Given the description of an element on the screen output the (x, y) to click on. 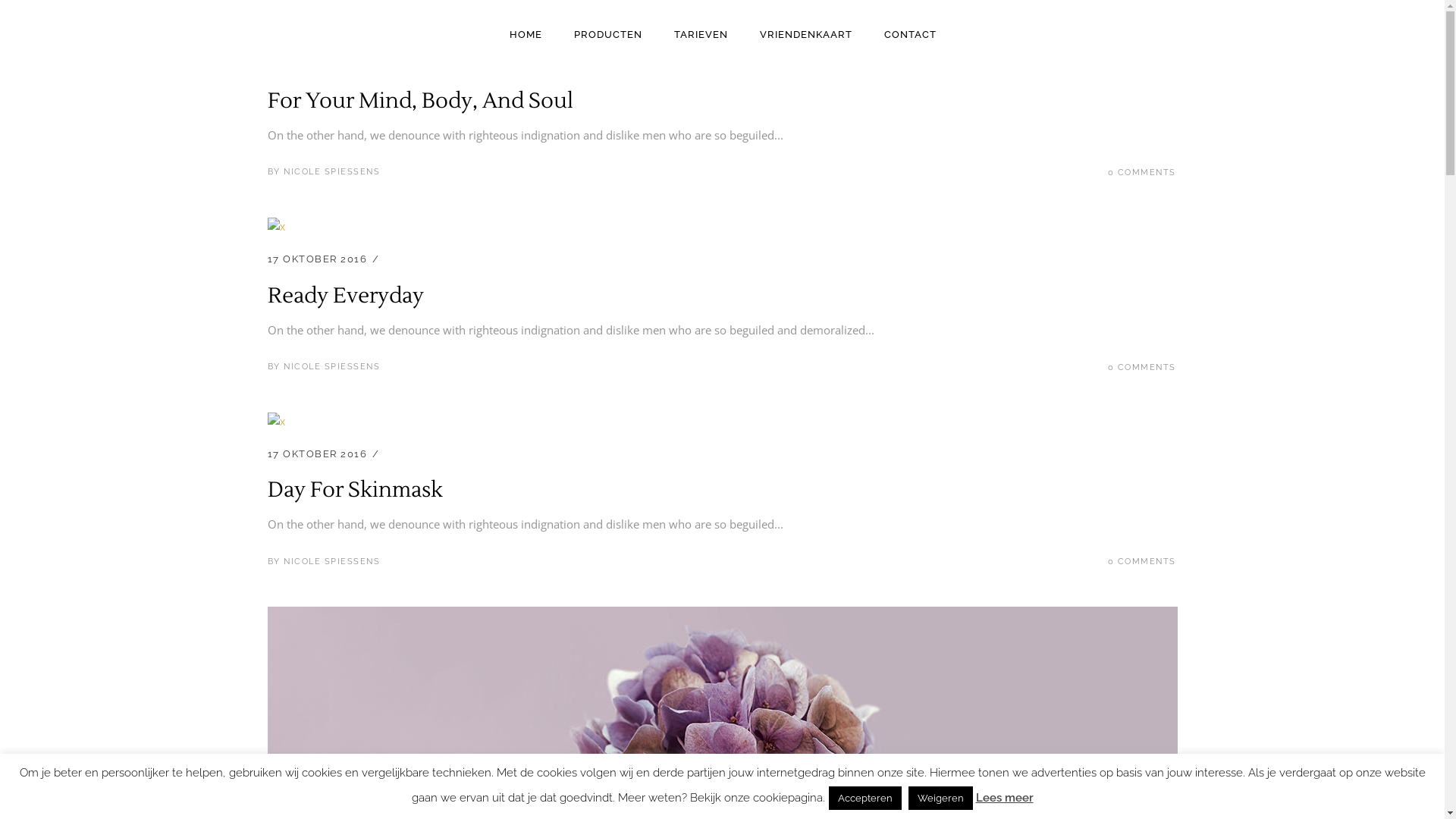
Day For Skinmask Element type: text (354, 489)
CONTACT Element type: text (909, 33)
Weigeren Element type: text (940, 797)
0 COMMENTS Element type: text (1141, 561)
HOME Element type: text (524, 33)
Day For Skinmask Element type: hover (275, 421)
VRIENDENKAART Element type: text (805, 33)
TARIEVEN Element type: text (700, 33)
Accepteren Element type: text (864, 797)
For Your Mind, Body, And Soul Element type: text (419, 100)
For Your Mind, Body, And Soul Element type: hover (275, 31)
PRODUCTEN Element type: text (608, 33)
Ready Everyday Element type: hover (275, 226)
NICOLE SPIESSENS Element type: text (331, 366)
Lees meer Element type: text (1003, 797)
NICOLE SPIESSENS Element type: text (331, 171)
0 COMMENTS Element type: text (1141, 367)
NICOLE SPIESSENS Element type: text (331, 561)
Ready Everyday Element type: text (344, 295)
0 COMMENTS Element type: text (1141, 172)
Flowers Day Element type: hover (721, 615)
